Given the description of an element on the screen output the (x, y) to click on. 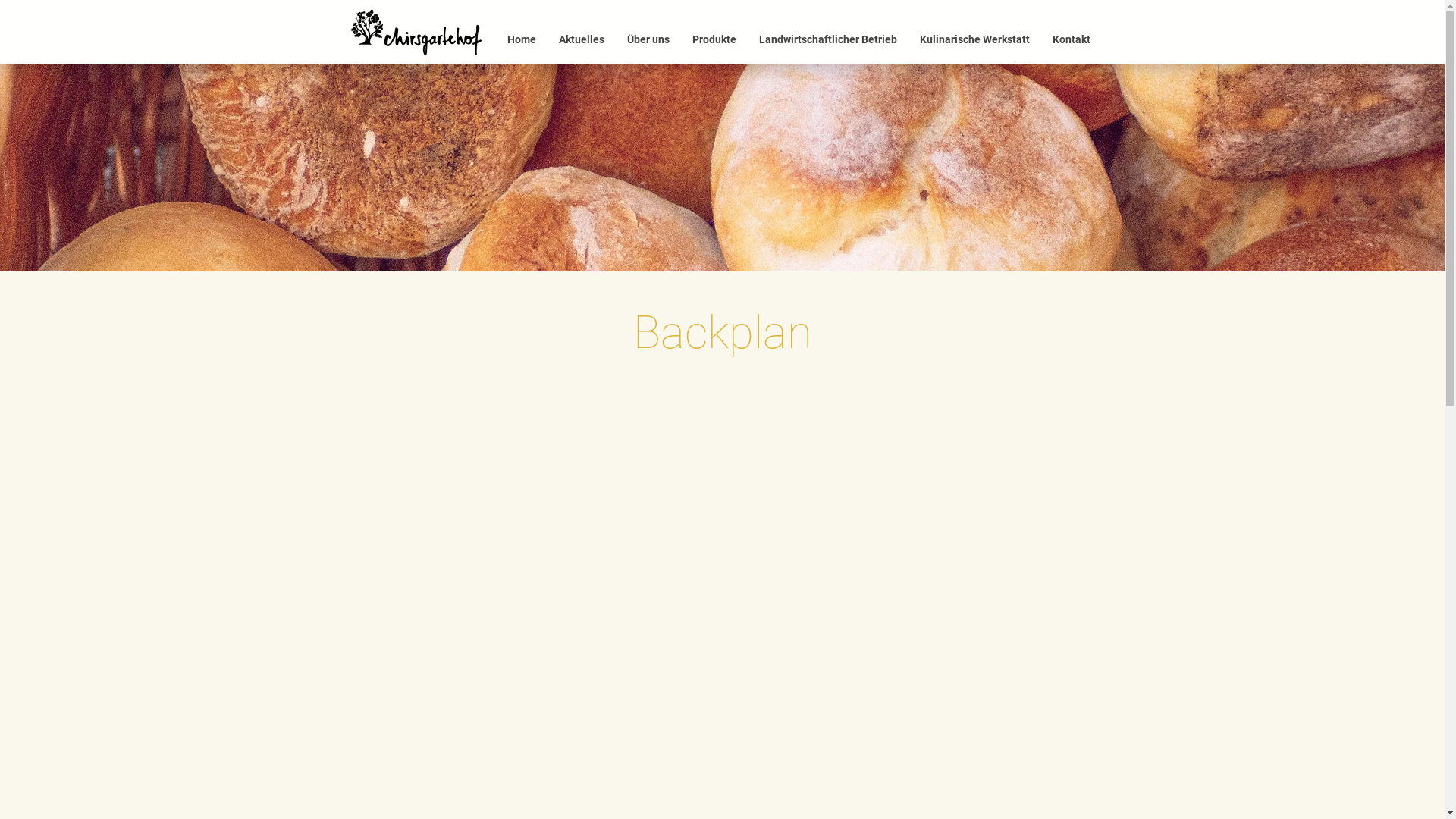
Aktuelles Element type: text (581, 39)
Landwirtschaftlicher Betrieb Element type: text (827, 39)
Kulinarische Werkstatt Element type: text (974, 39)
Kontakt Element type: text (1070, 39)
Produkte Element type: text (713, 39)
Home Element type: text (521, 39)
